Given the description of an element on the screen output the (x, y) to click on. 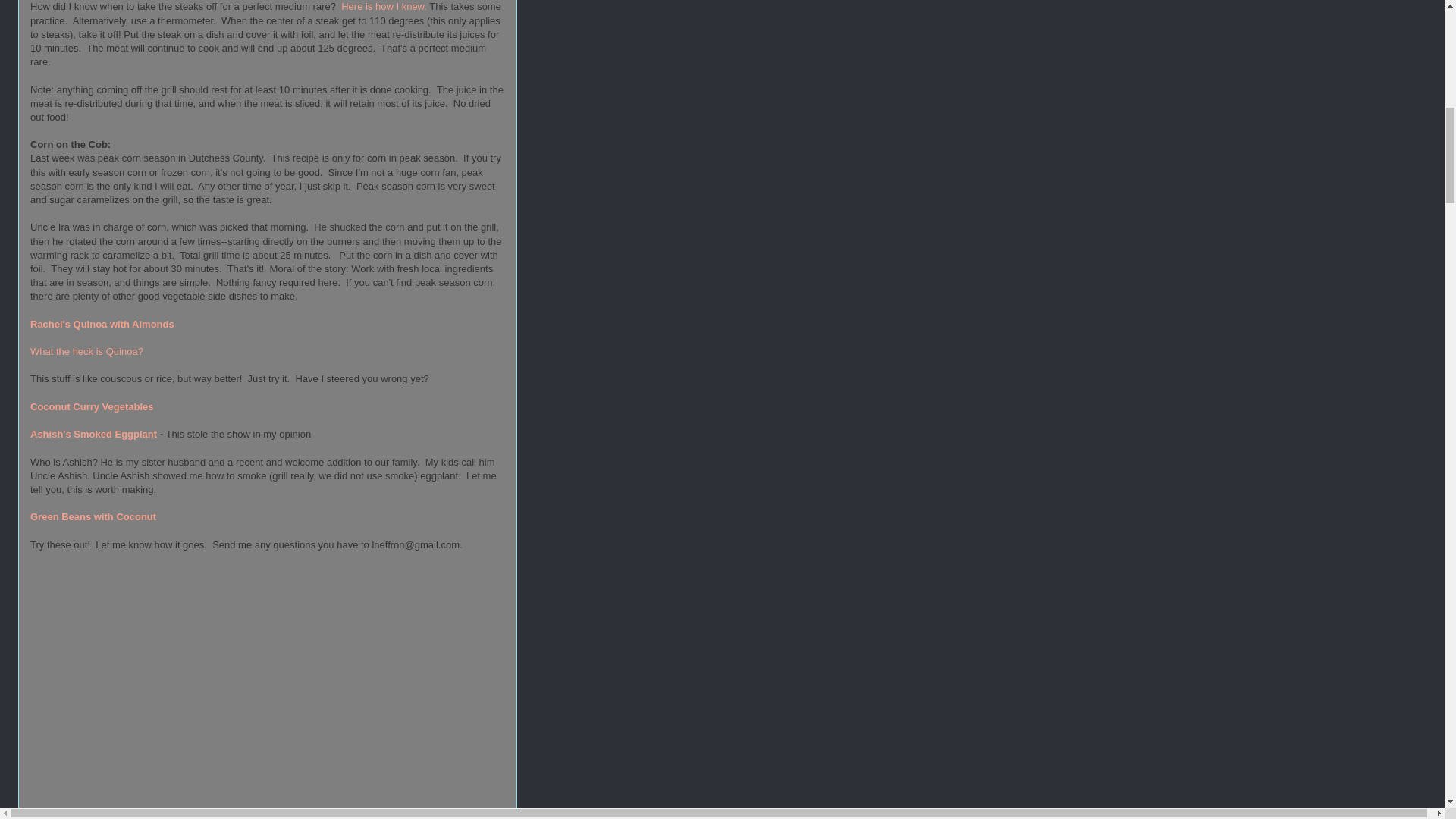
Green Beans with Coconut (92, 516)
What the heck is Quinoa? (86, 351)
Coconut Curry Vegetables (92, 406)
Rachel's Quinoa with Almonds (102, 324)
Ashish's Smoked Eggplant (93, 433)
Here is how I knew. (383, 6)
